Given the description of an element on the screen output the (x, y) to click on. 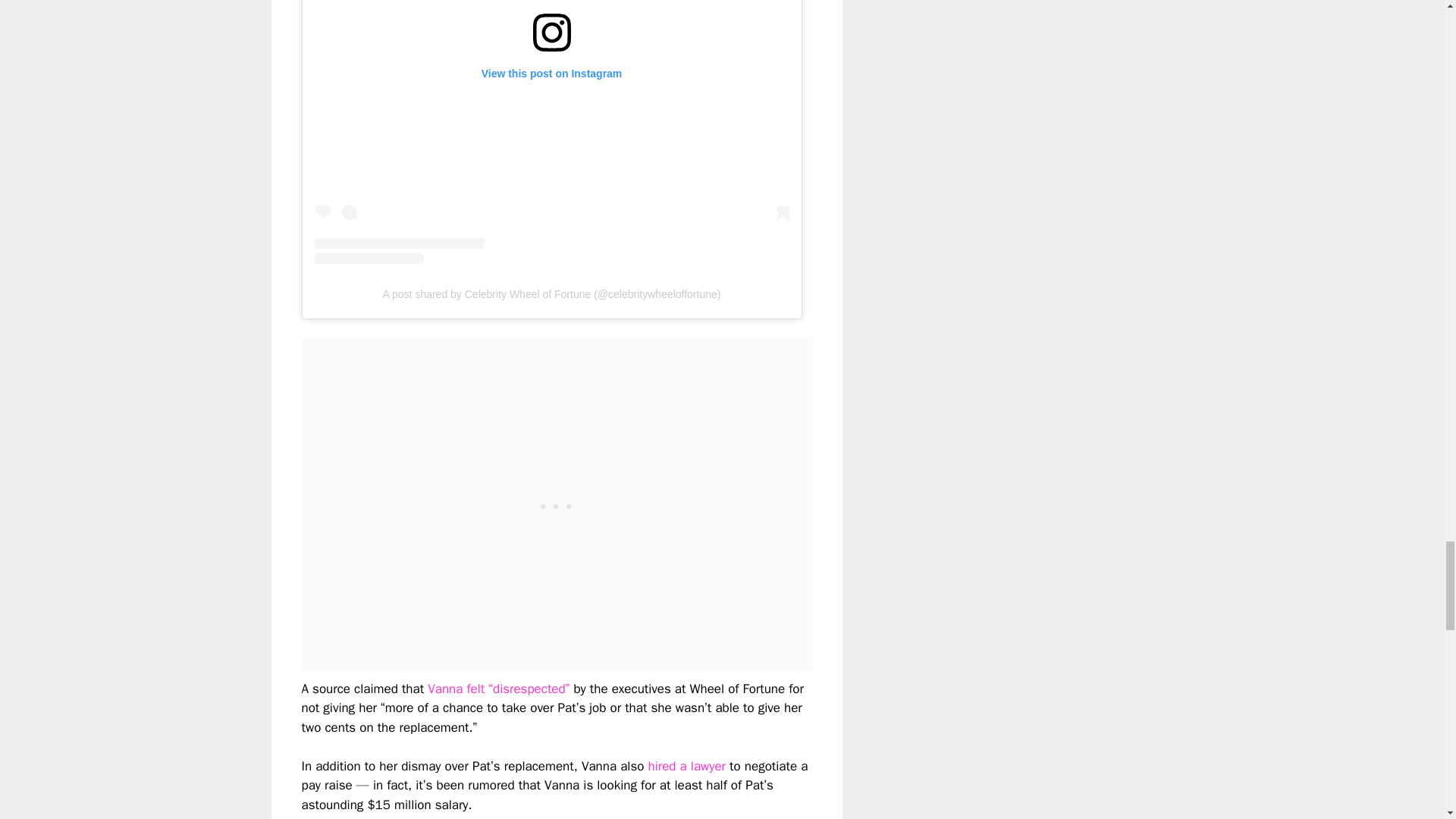
View this post on Instagram (551, 131)
hired a lawyer (686, 765)
